Given the description of an element on the screen output the (x, y) to click on. 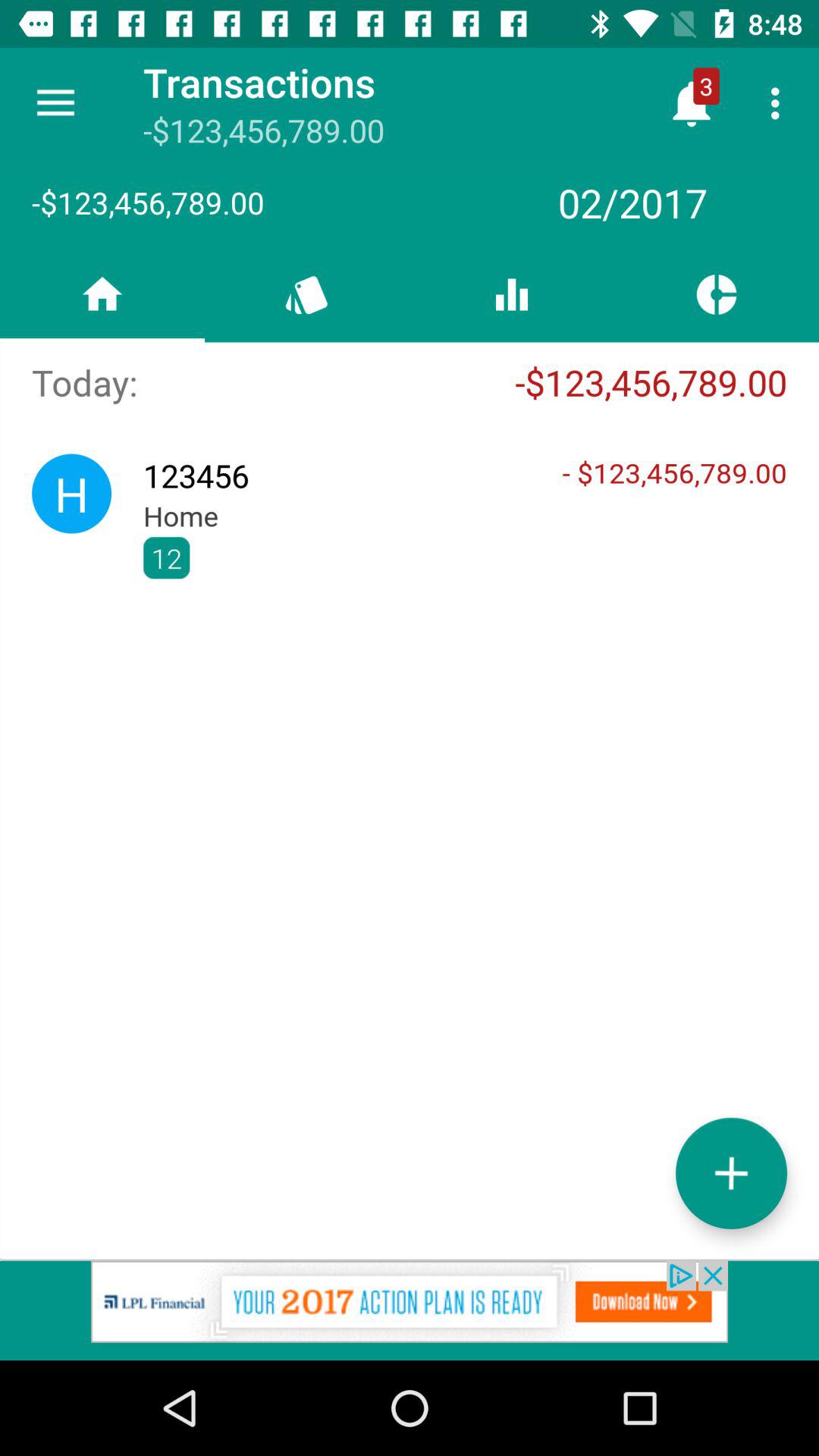
open icon below the ,, (731, 1173)
